Given the description of an element on the screen output the (x, y) to click on. 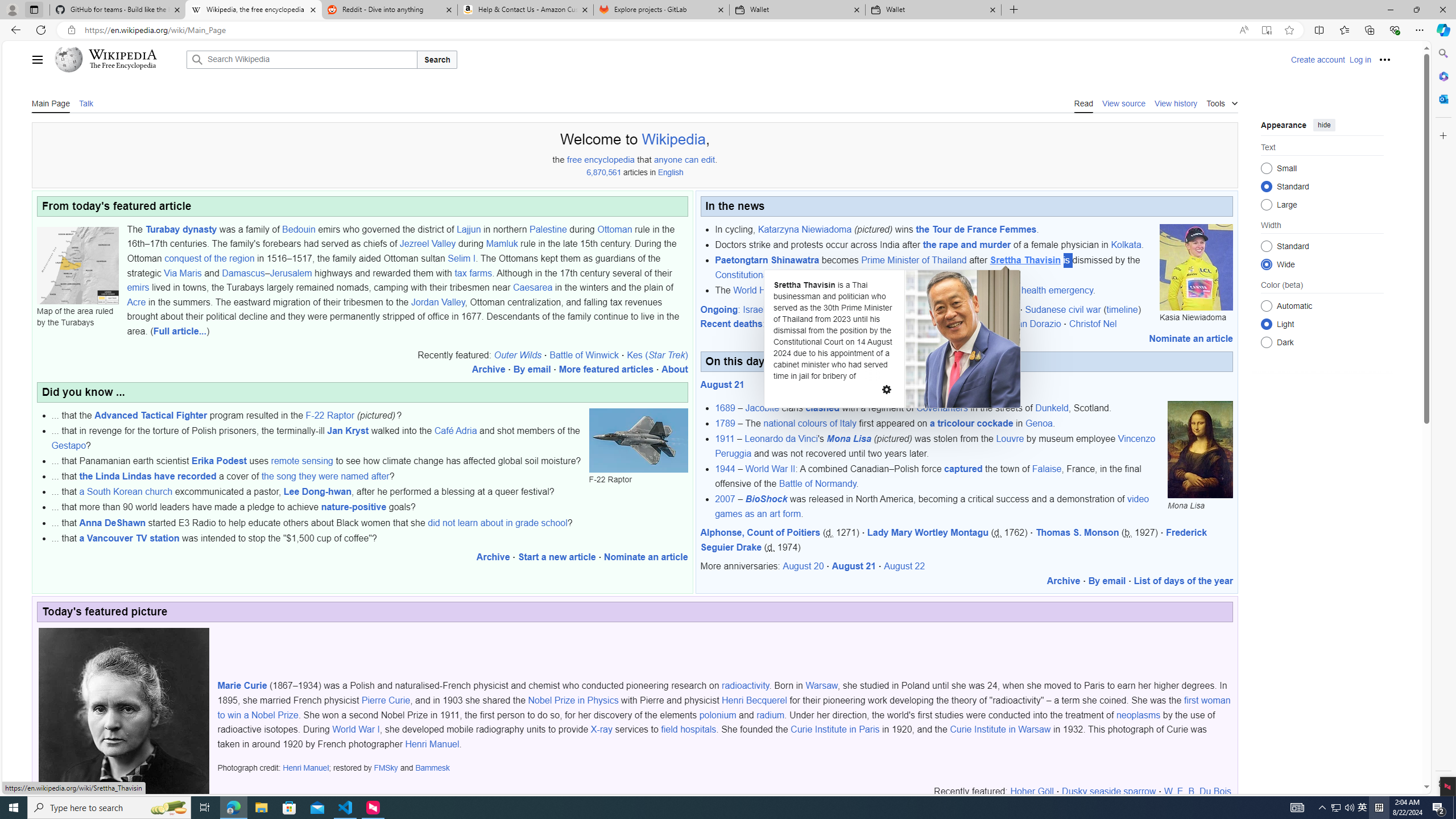
Curie Institute in Paris (834, 729)
Maria Branyas (850, 324)
World Health Organization (786, 289)
Reddit - Dive into anything (390, 9)
Sudanese civil war (1062, 309)
